Given the description of an element on the screen output the (x, y) to click on. 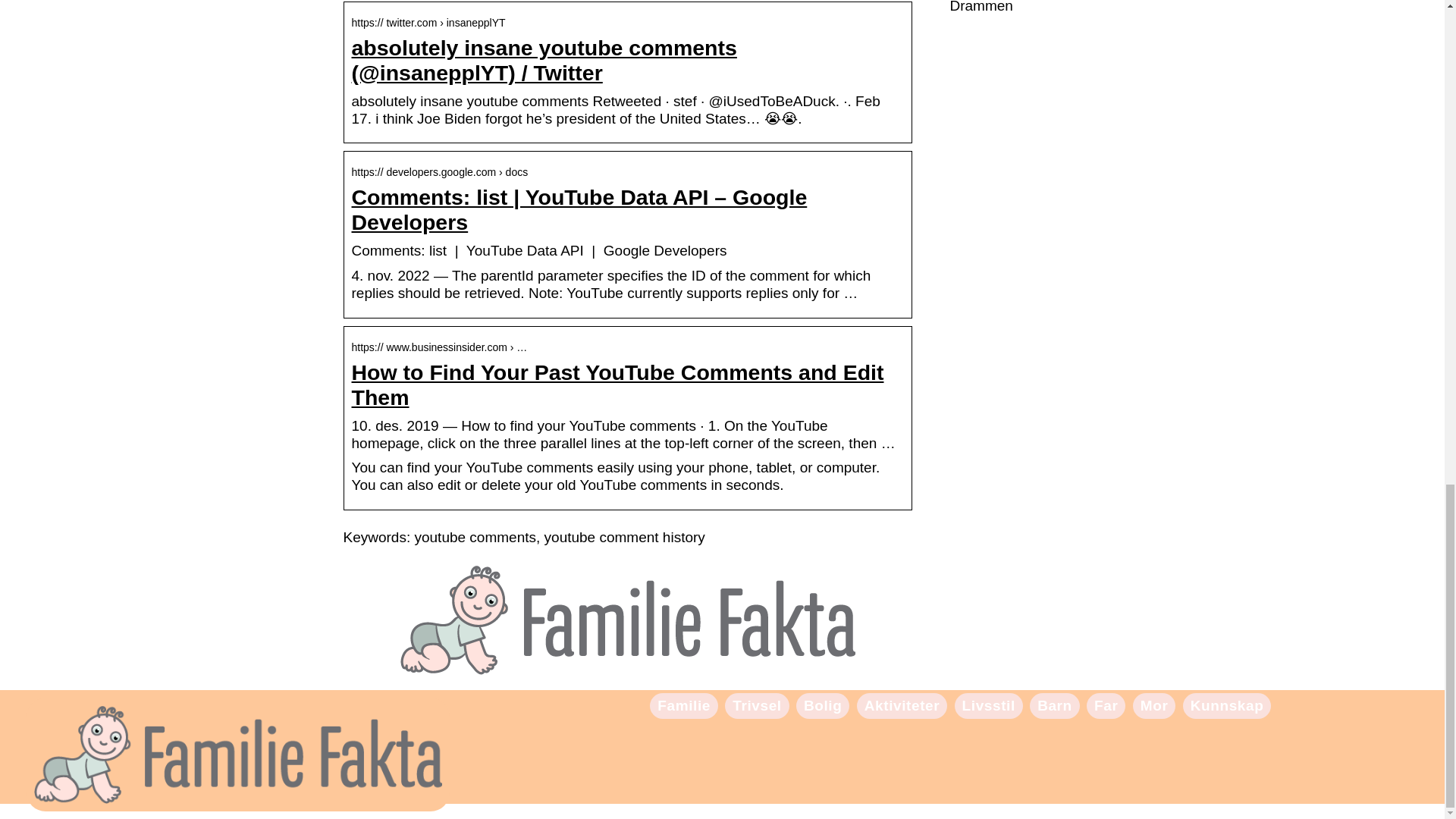
Trivsel (756, 705)
Aktiviteter (902, 705)
Livsstil (988, 705)
Mor (1154, 705)
Bolig (823, 705)
Kunnskap (1227, 705)
Far (1106, 705)
Familie (684, 705)
Barn (1053, 705)
